Given the description of an element on the screen output the (x, y) to click on. 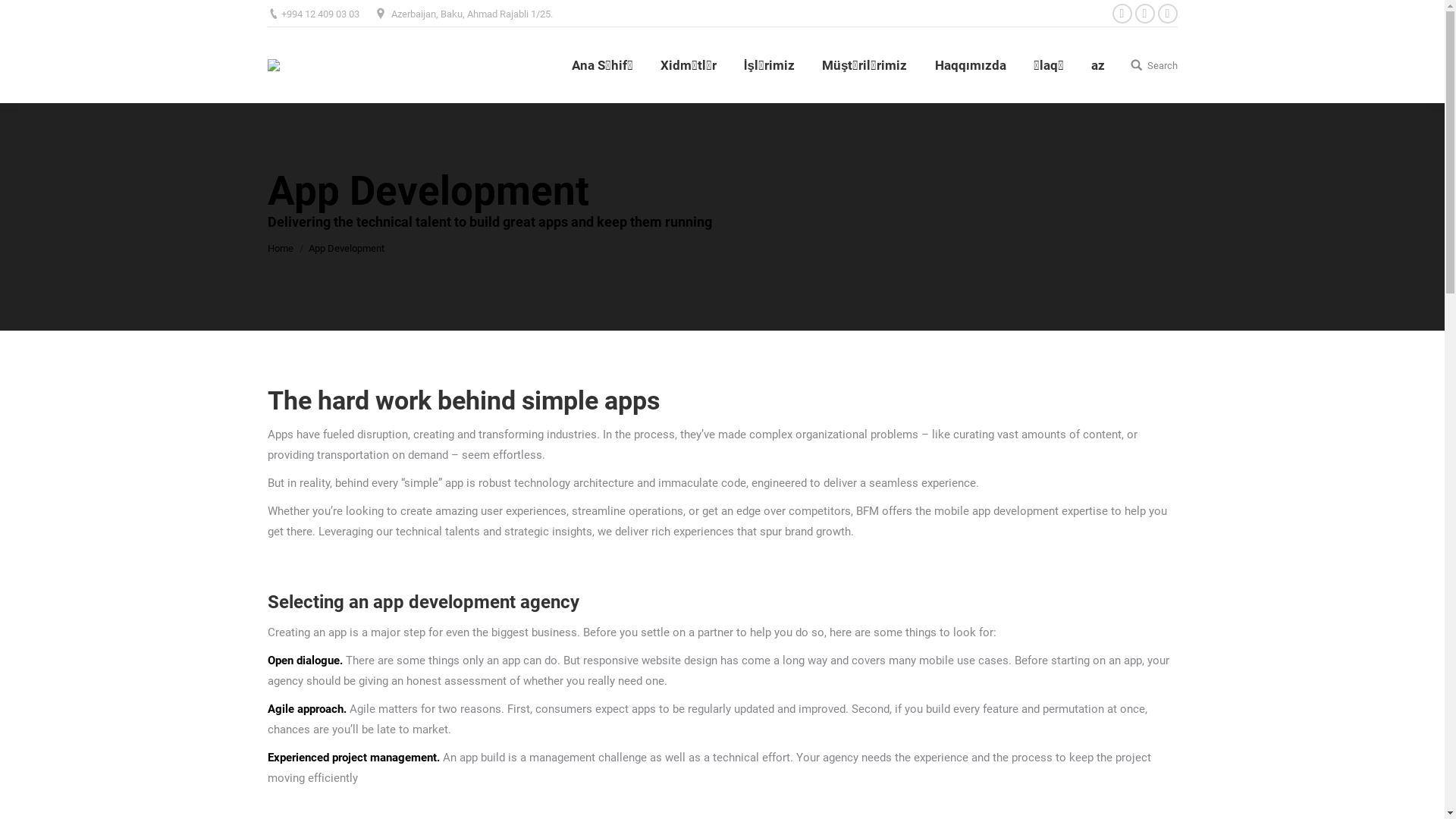
Home Element type: text (279, 248)
Facebook Element type: text (1121, 13)
Instagram Element type: text (1144, 13)
az Element type: text (1097, 64)
Go! Element type: text (21, 14)
Search Element type: text (1152, 65)
YouTube Element type: text (1166, 13)
